Given the description of an element on the screen output the (x, y) to click on. 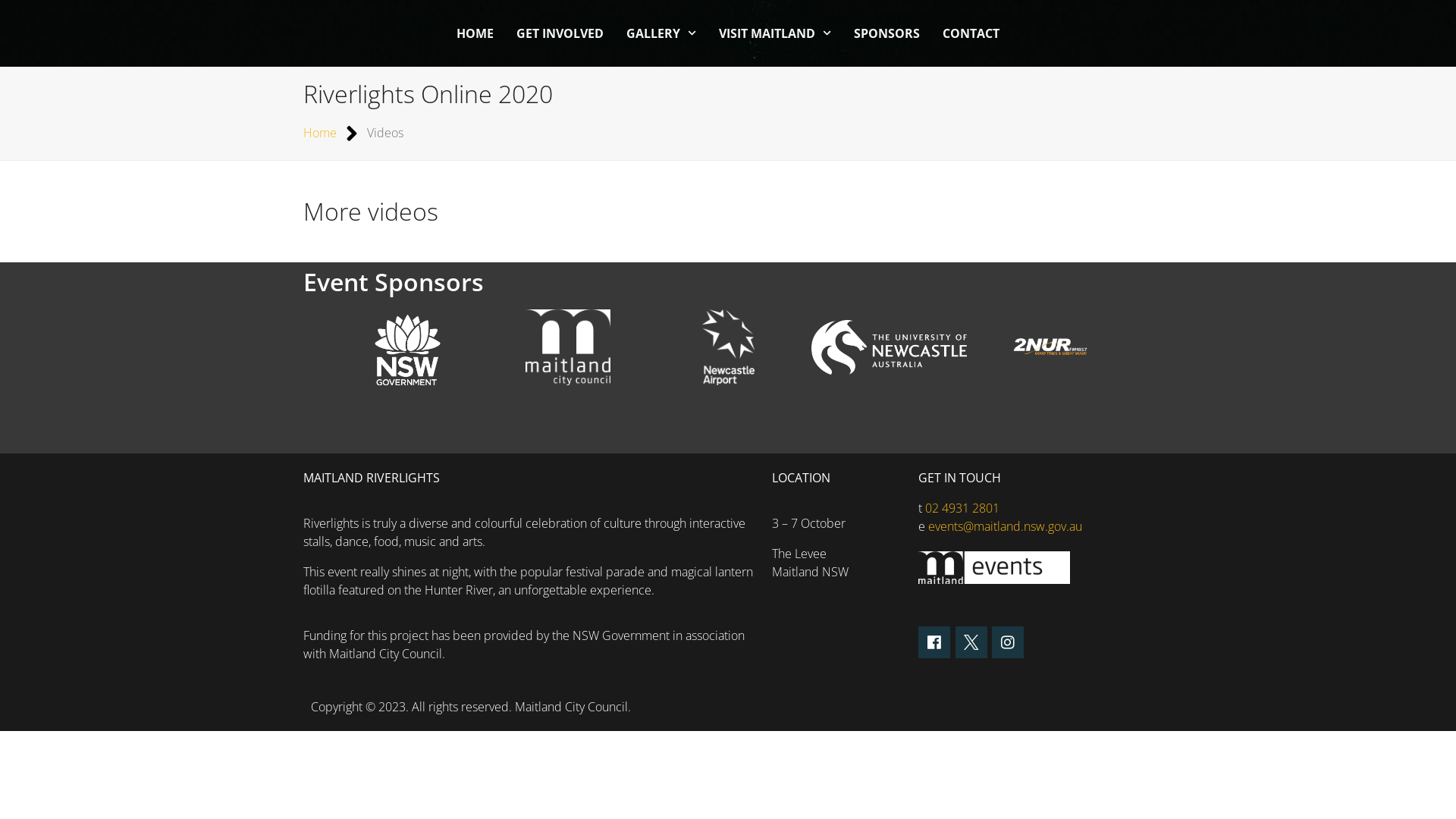
GALLERY Element type: text (661, 33)
CONTACT Element type: text (970, 33)
SPONSORS Element type: text (886, 33)
Home Element type: text (319, 132)
02 4931 2801 Element type: text (962, 507)
events@maitland.nsw.gov.au Element type: text (1005, 525)
VISIT MAITLAND Element type: text (774, 33)
GET INVOLVED Element type: text (560, 33)
HOME Element type: text (475, 33)
